Given the description of an element on the screen output the (x, y) to click on. 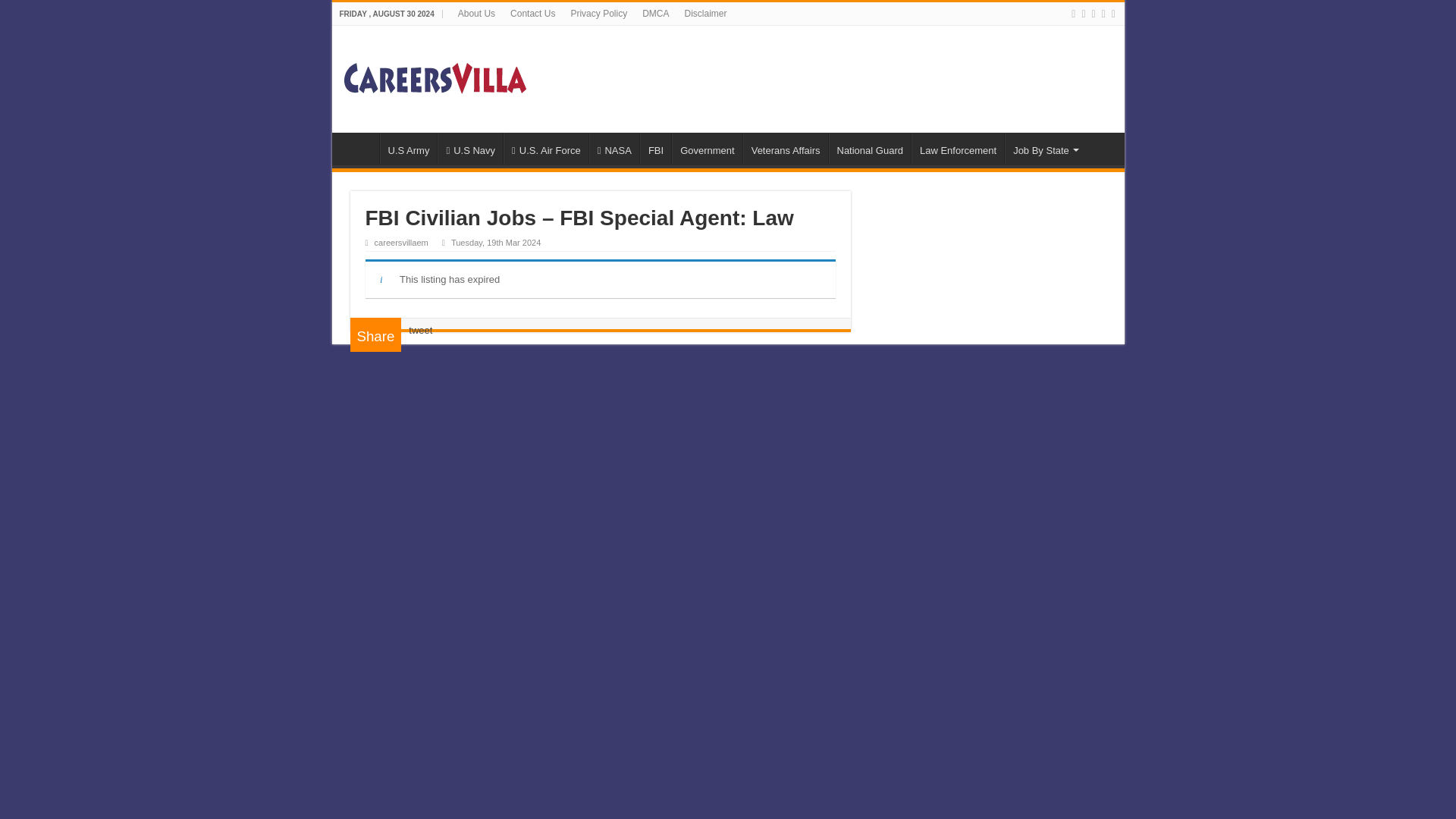
DMCA (655, 13)
Contact Us (532, 13)
FBI (655, 148)
U.S Army (407, 148)
U.S Navy (470, 148)
Disclaimer (705, 13)
About Us (475, 13)
National Guard (869, 148)
Job By State (1044, 148)
NASA (614, 148)
